Given the description of an element on the screen output the (x, y) to click on. 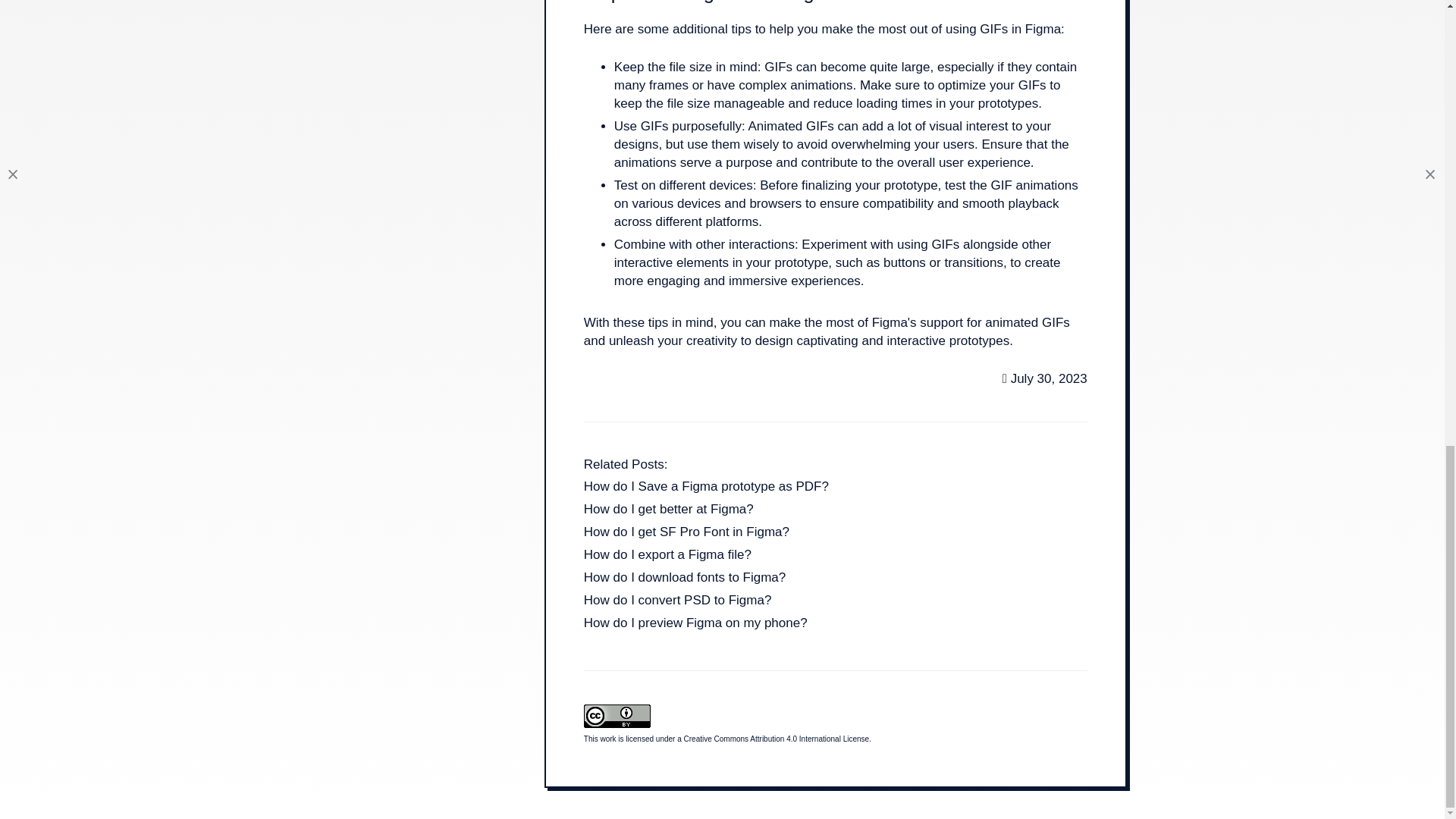
Creative Commons Attribution 4.0 International License (776, 738)
How do I get better at Figma? (668, 511)
How do I download fonts to Figma? (684, 579)
How do I get SF Pro Font in Figma? (686, 533)
How do I Save a Figma prototype as PDF? (705, 488)
How do I preview Figma on my phone? (695, 624)
How do I convert PSD to Figma? (677, 601)
How do I export a Figma file? (667, 556)
